Given the description of an element on the screen output the (x, y) to click on. 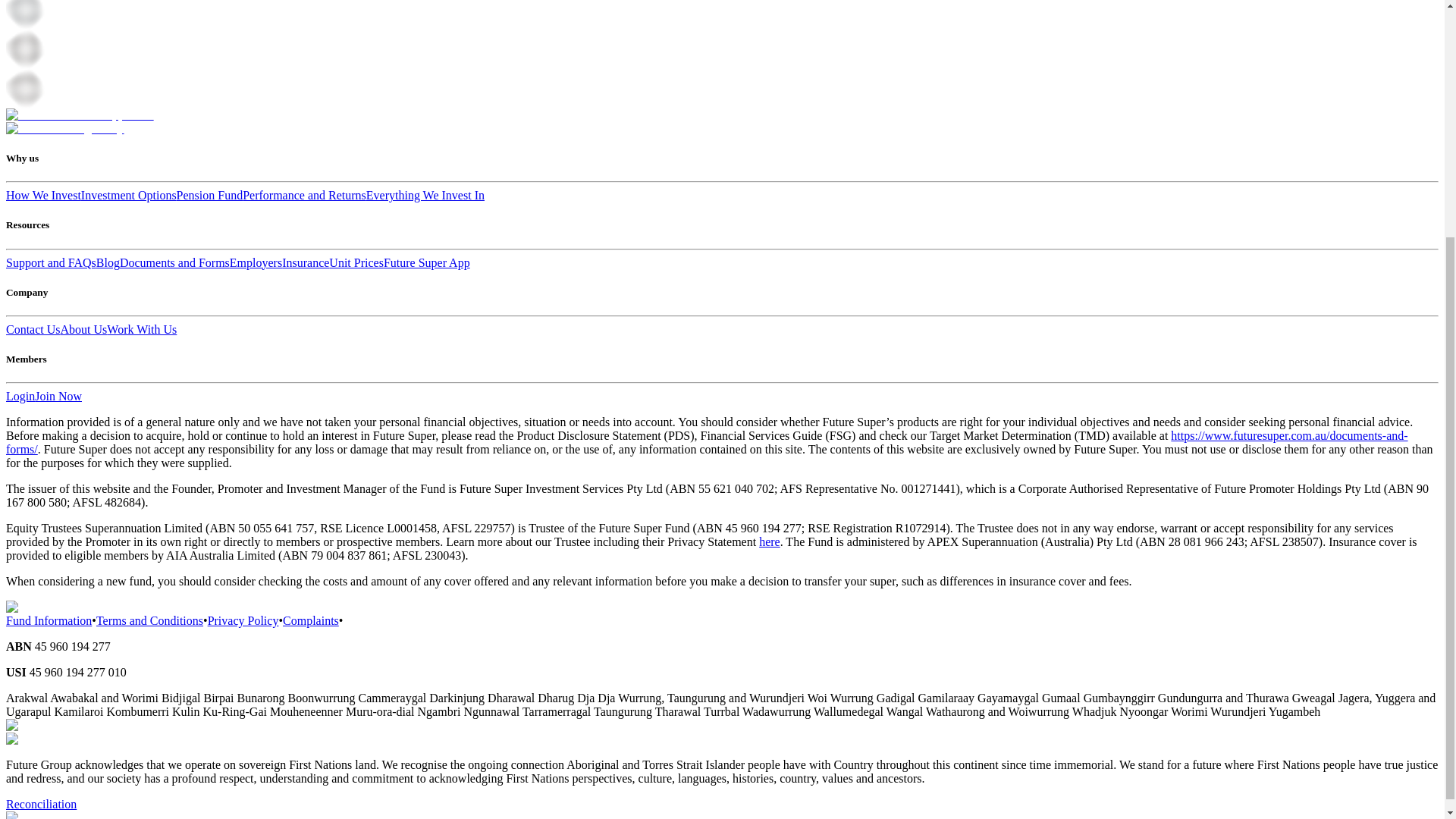
Future Super App (427, 262)
Login (19, 395)
here (769, 541)
Work With Us (141, 328)
Unit Prices (356, 262)
Join Now (57, 395)
How We Invest (43, 195)
Complaints (310, 620)
About Us (84, 328)
Pension Fund (209, 195)
Privacy Policy (243, 620)
Performance and Returns (304, 195)
Everything We Invest In (425, 195)
Contact Us (33, 328)
Documents and Forms (174, 262)
